Given the description of an element on the screen output the (x, y) to click on. 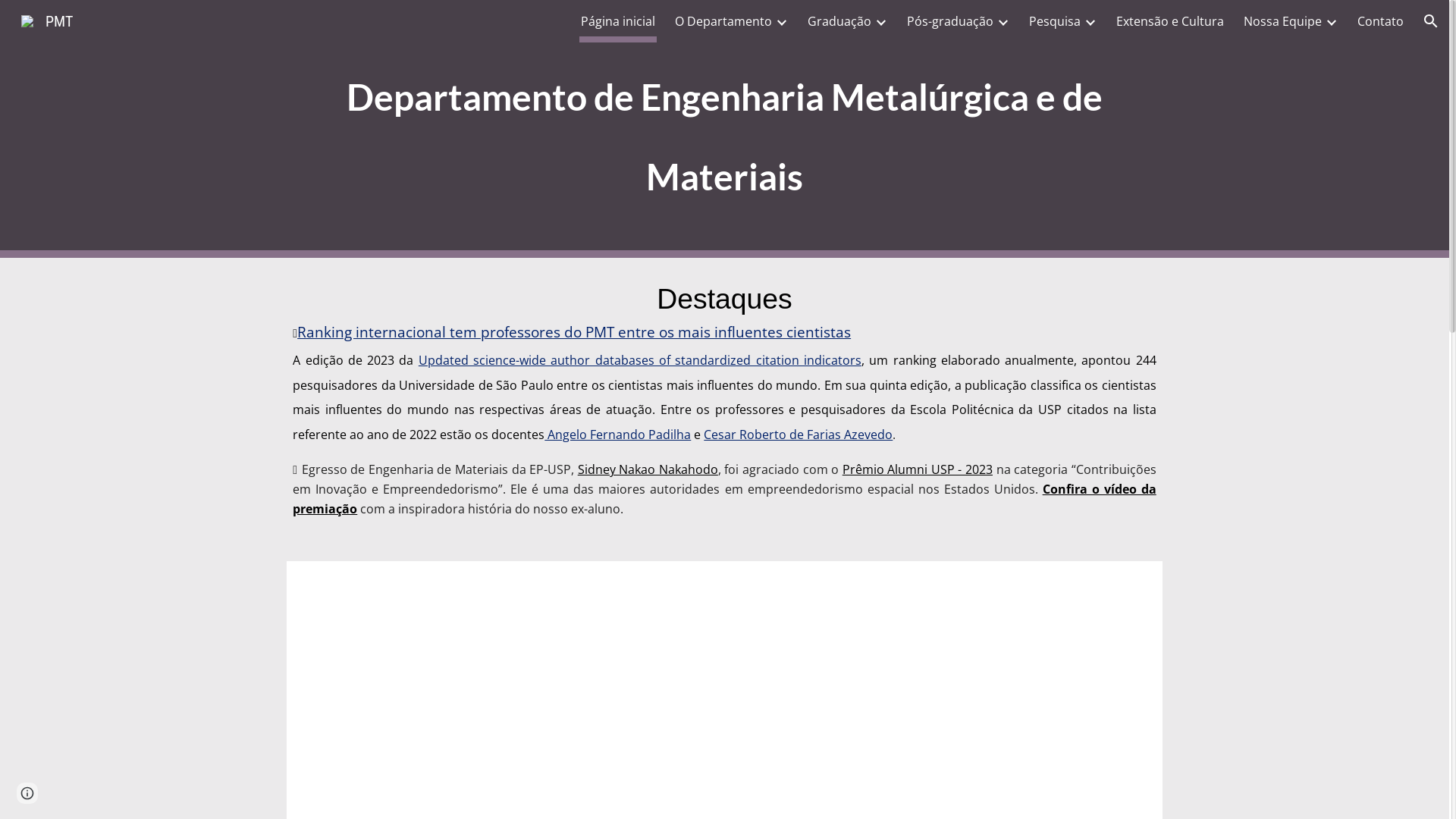
Expand/Collapse Element type: hover (780, 20)
Contato Element type: text (1380, 20)
Expand/Collapse Element type: hover (1089, 20)
Expand/Collapse Element type: hover (1002, 20)
Pesquisa Element type: text (1054, 20)
Nossa Equipe Element type: text (1282, 20)
O Departamento Element type: text (722, 20)
Cesar Roberto de Farias Azevedo Element type: text (797, 433)
Angelo Fernando Padilha Element type: text (617, 433)
PMT Element type: text (46, 19)
Expand/Collapse Element type: hover (1330, 20)
Expand/Collapse Element type: hover (880, 20)
Sidney Nakao Nakahodo Element type: text (647, 468)
